Given the description of an element on the screen output the (x, y) to click on. 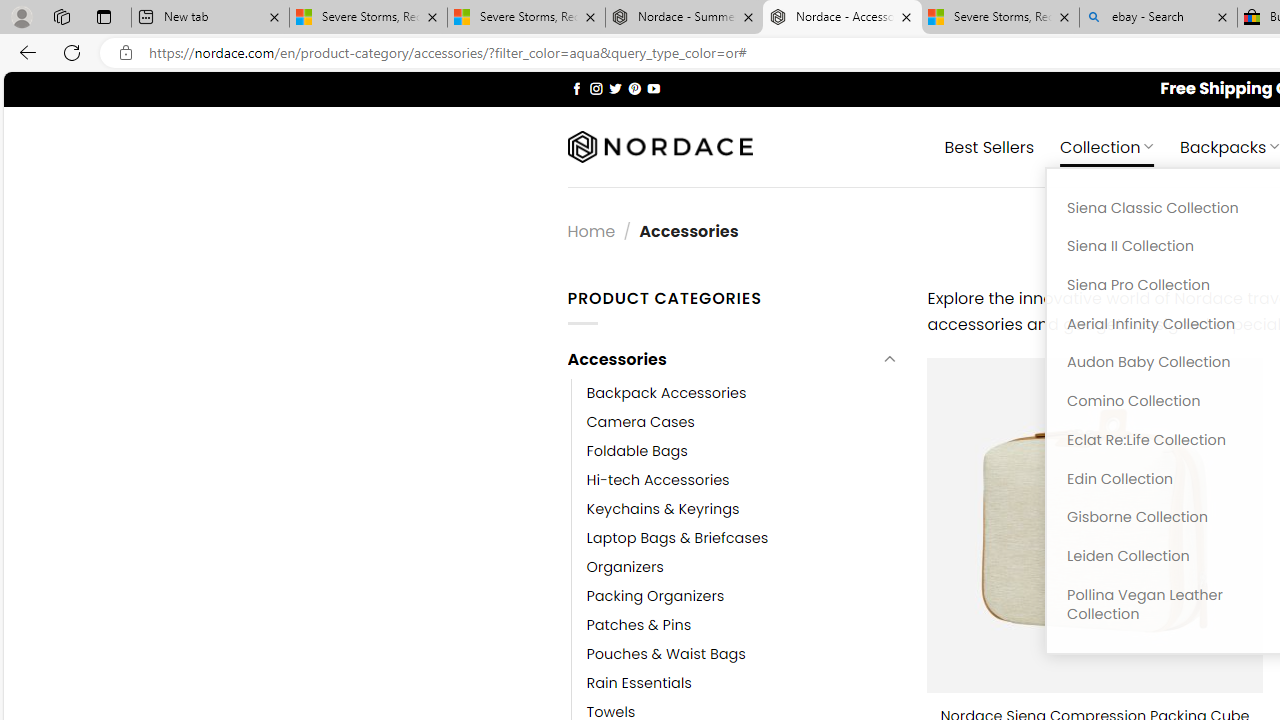
Pouches & Waist Bags (666, 655)
Laptop Bags & Briefcases (742, 537)
Foldable Bags (742, 450)
 Best Sellers (989, 146)
Patches & Pins (742, 625)
Backpack Accessories (666, 393)
Accessories (721, 359)
